Given the description of an element on the screen output the (x, y) to click on. 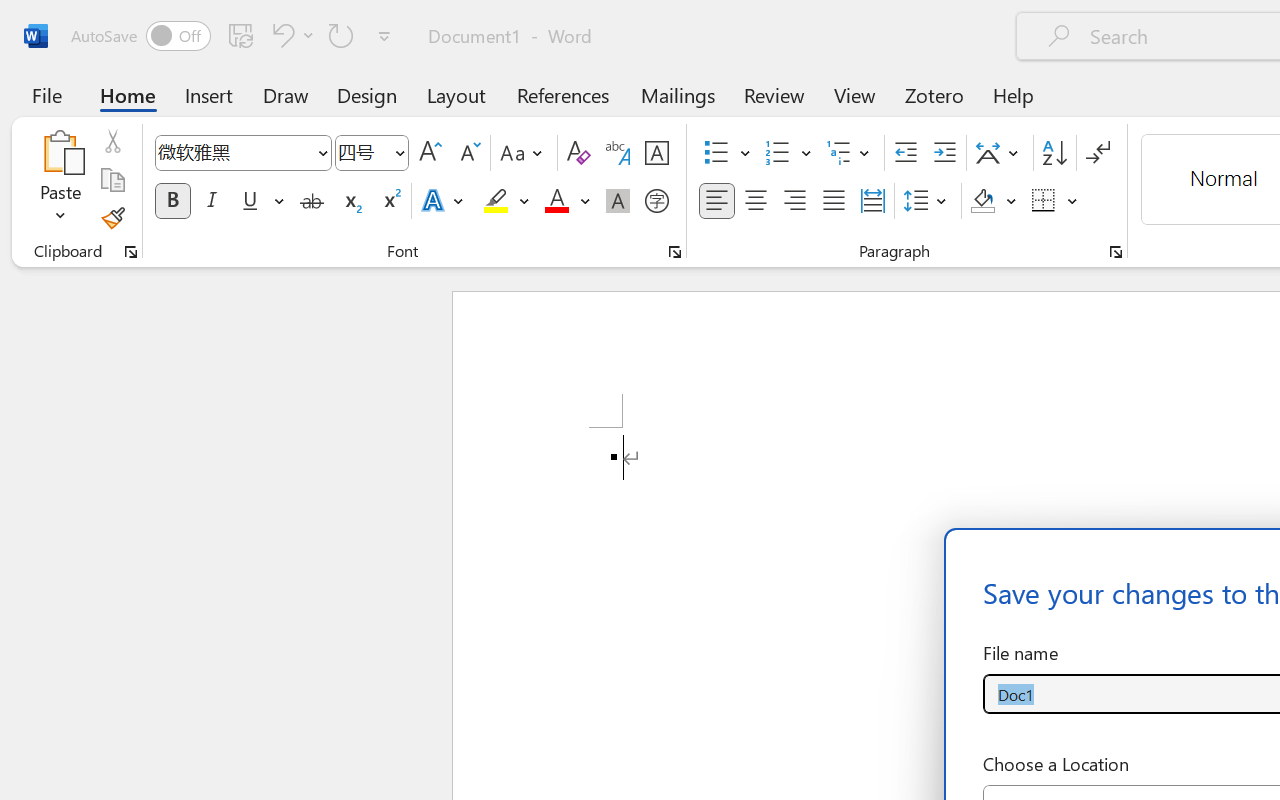
Undo <ApplyStyleToDoc>b__0 (280, 35)
